Given the description of an element on the screen output the (x, y) to click on. 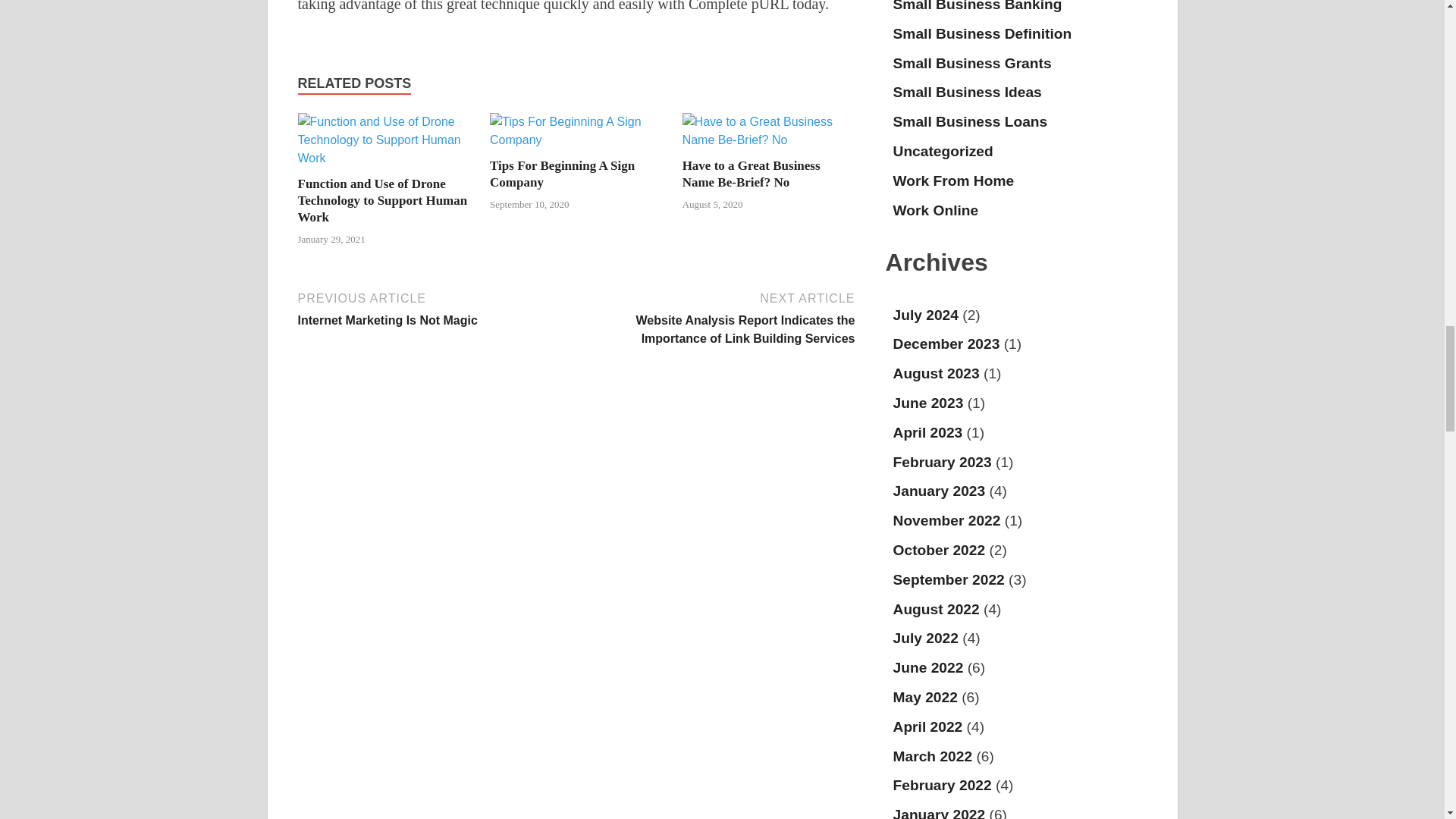
Have to a Great Business Name Be-Brief? No (751, 173)
Tips For Beginning A Sign Company (575, 139)
Function and Use of Drone Technology to Support Human Work (383, 157)
Tips For Beginning A Sign Company (561, 173)
Have to a Great Business Name Be-Brief? No (769, 139)
Function and Use of Drone Technology to Support Human Work (382, 200)
